Given the description of an element on the screen output the (x, y) to click on. 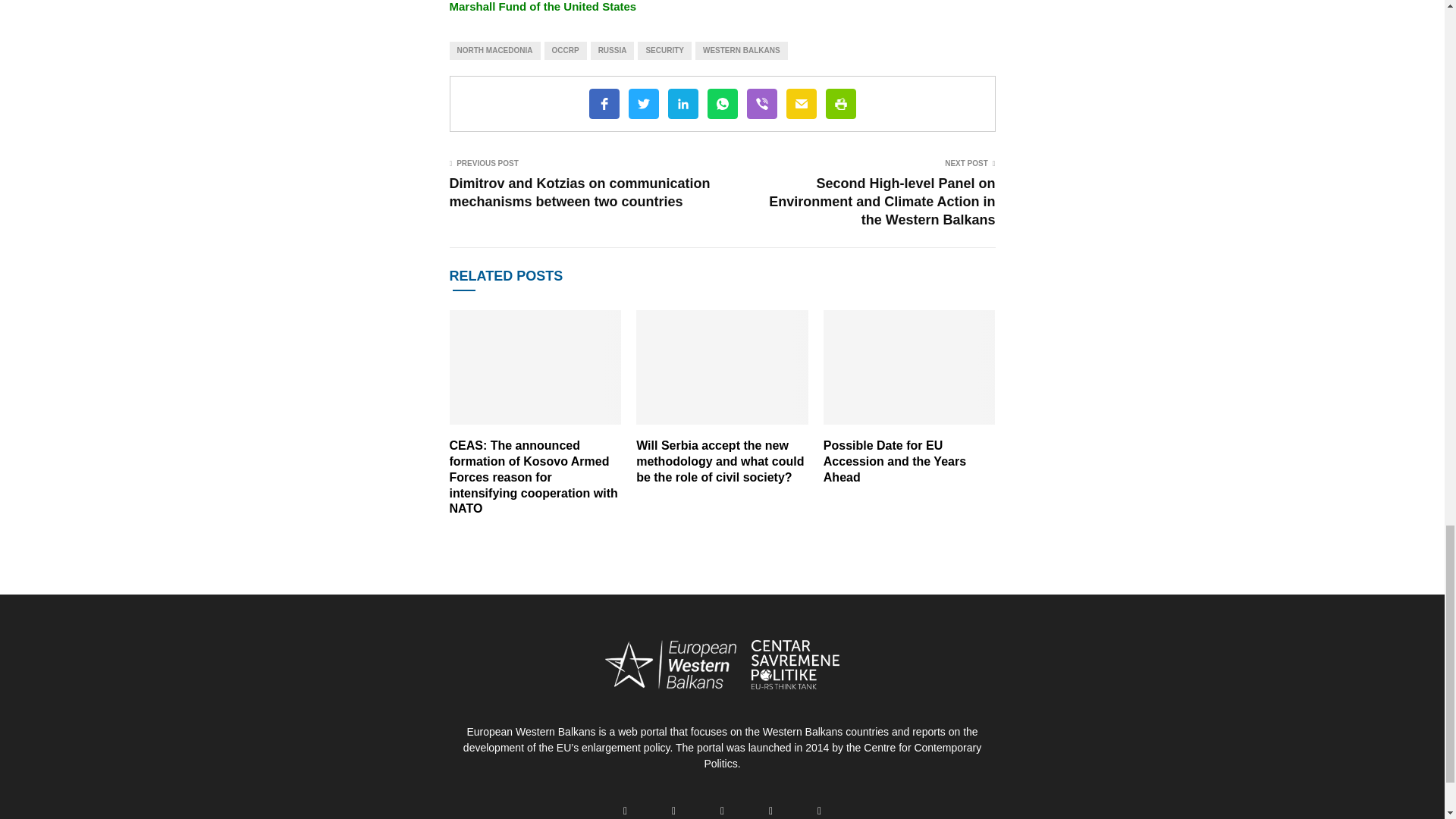
WESTERN BALKANS (741, 50)
Twitter (642, 103)
Facebook (603, 103)
Viber (760, 103)
NORTH MACEDONIA (494, 50)
Email (800, 103)
WhatsApp (721, 103)
OCCRP (565, 50)
SECURITY (664, 50)
LinkedIn (681, 103)
